Given the description of an element on the screen output the (x, y) to click on. 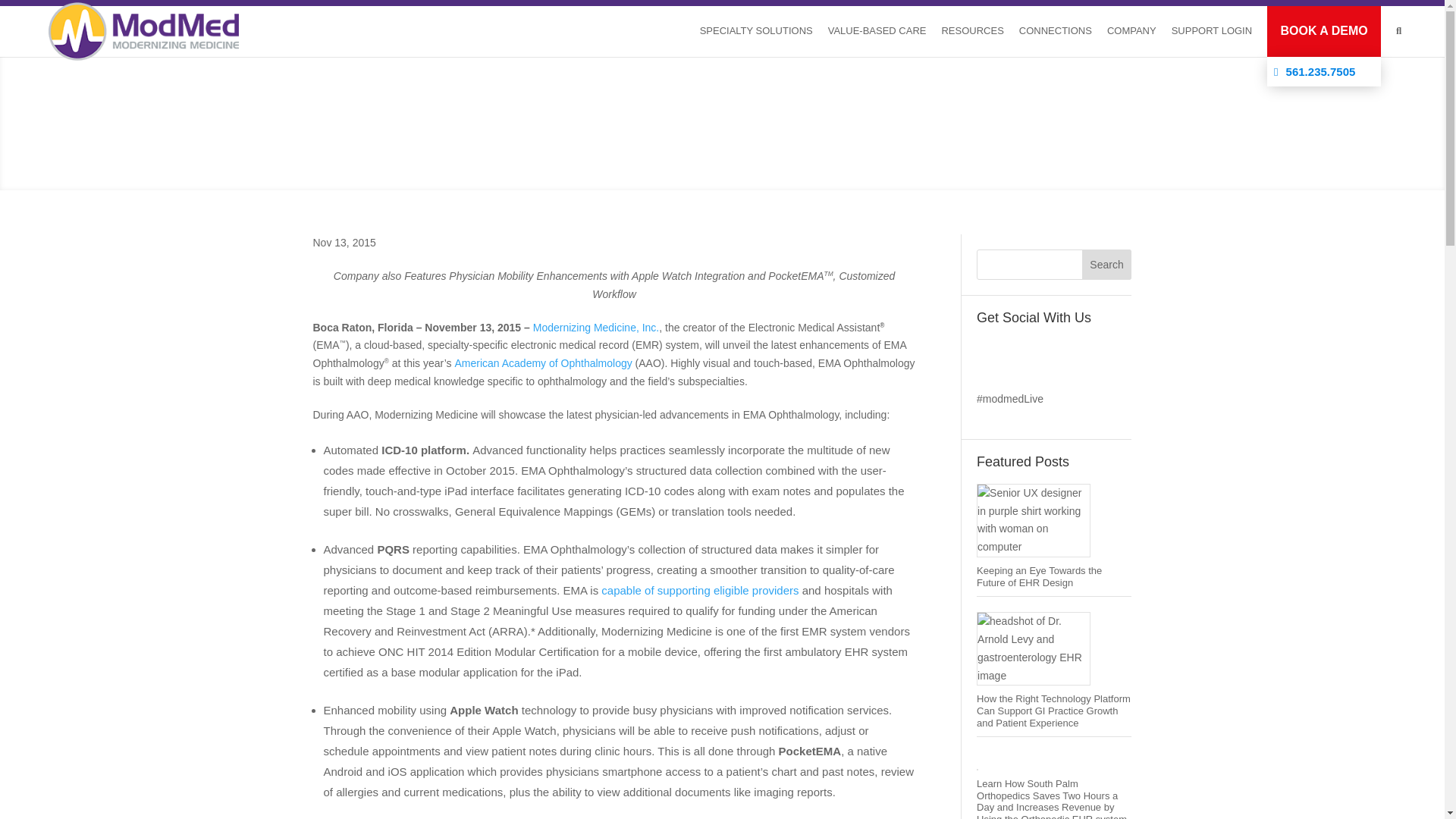
Follow on Twitter (1018, 351)
Follow on Instagram (1079, 351)
Follow on LinkedIn (1048, 351)
Search (1106, 264)
Follow on Youtube (1109, 351)
Follow on Vimeo (988, 377)
Follow on Facebook (988, 351)
